Given the description of an element on the screen output the (x, y) to click on. 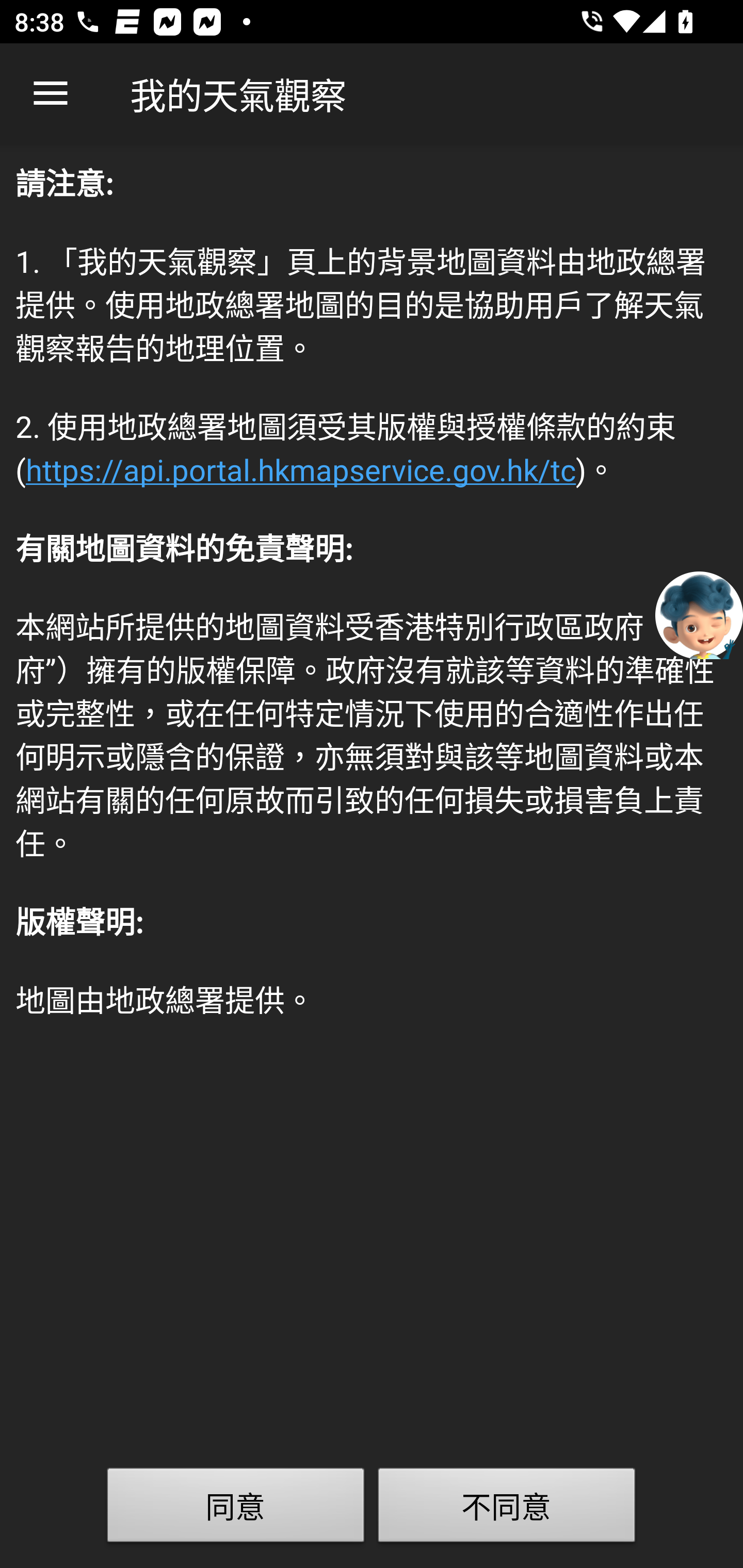
向上瀏覽 (50, 93)
聊天機械人 (699, 614)
同意 (235, 1509)
不同意 (506, 1509)
